Given the description of an element on the screen output the (x, y) to click on. 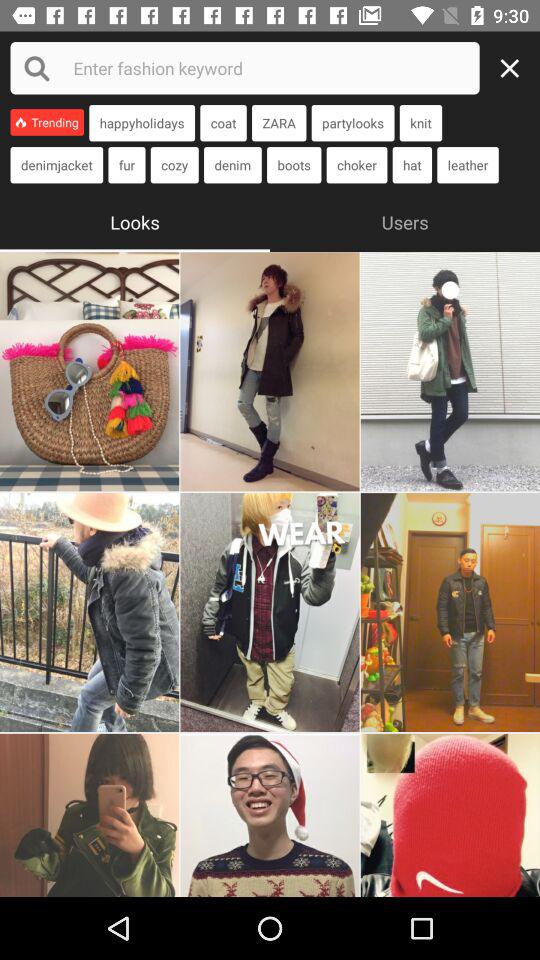
view this image (89, 612)
